Given the description of an element on the screen output the (x, y) to click on. 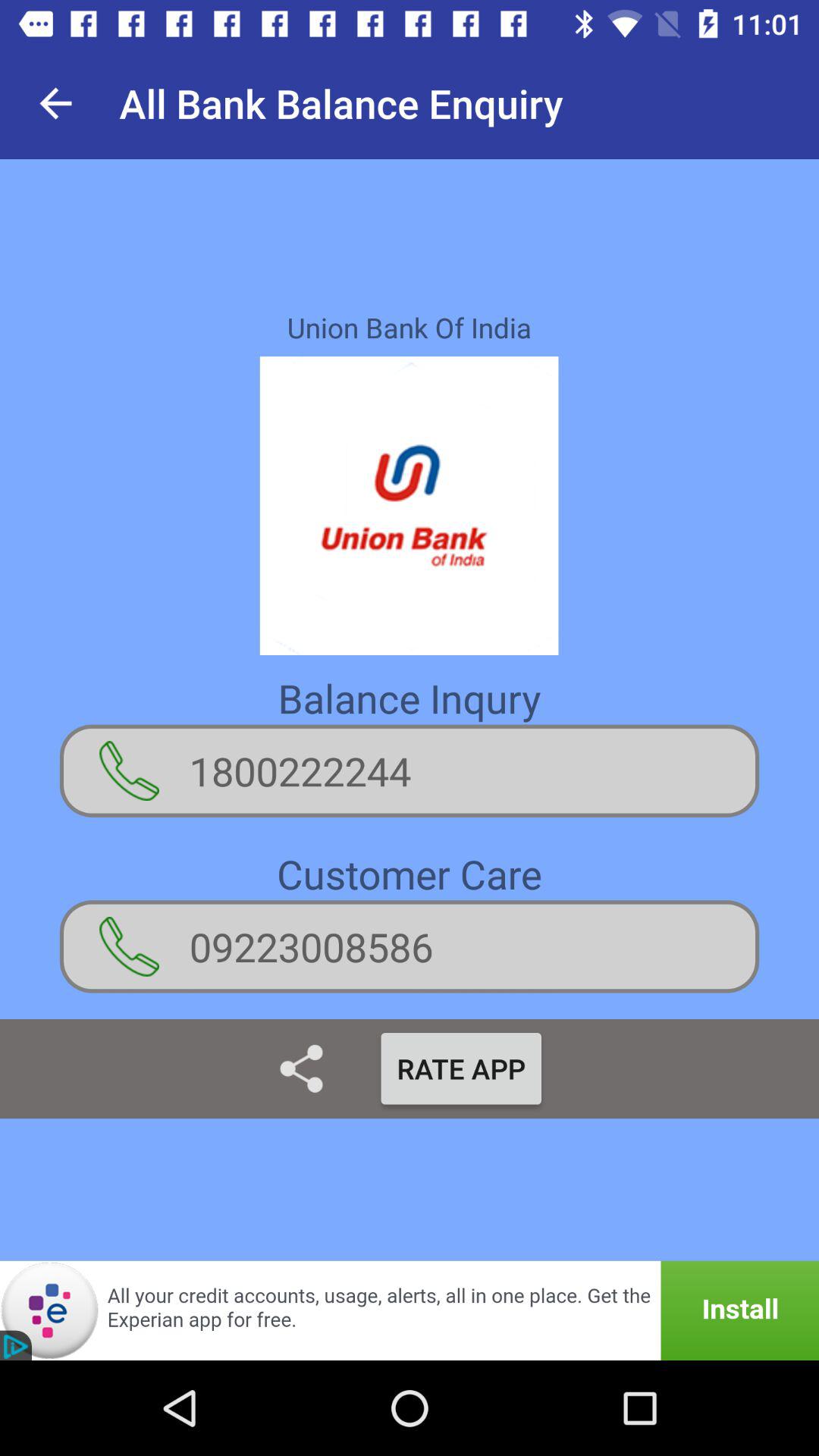
choose item next to the all bank balance item (55, 103)
